Given the description of an element on the screen output the (x, y) to click on. 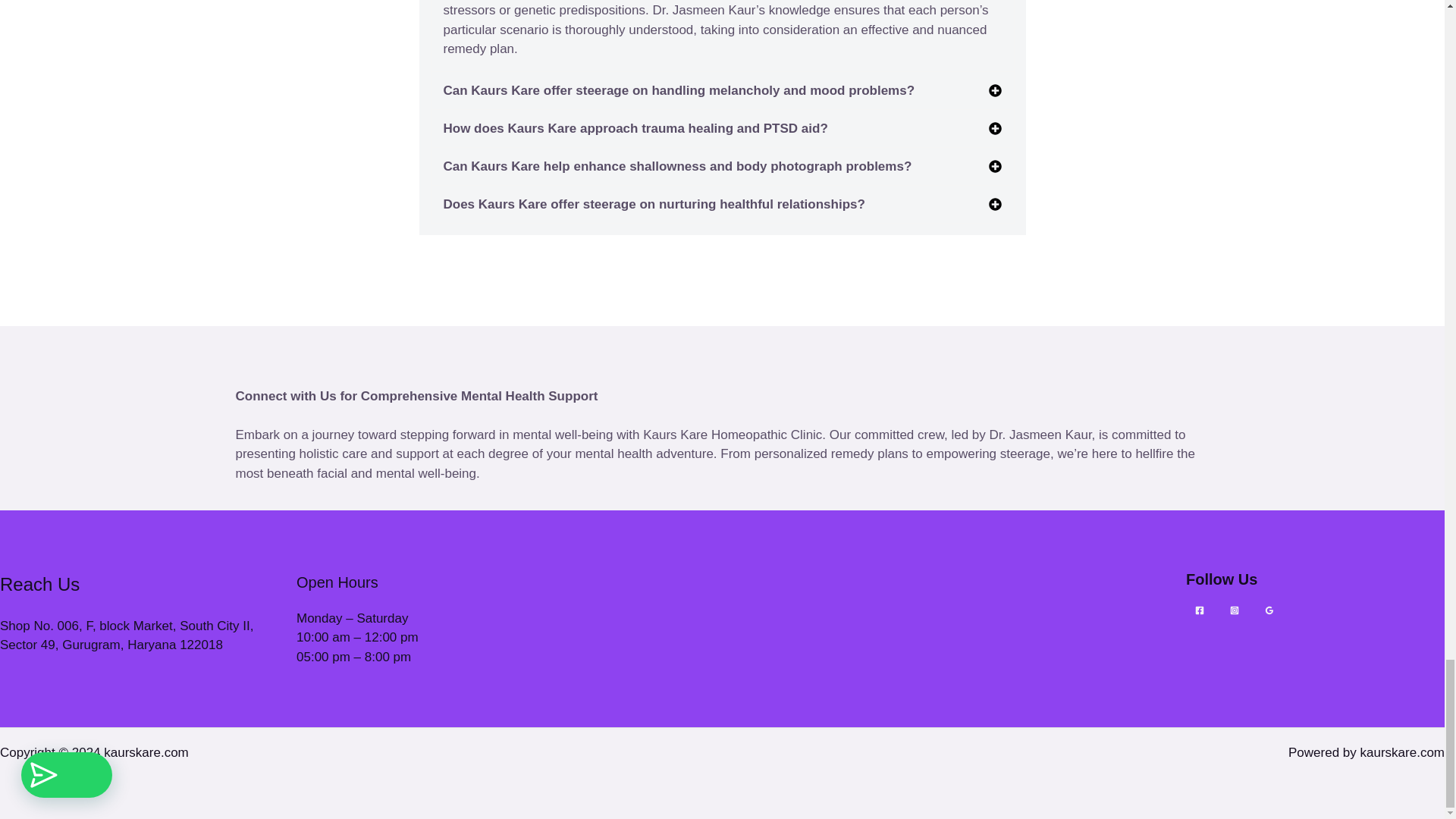
How does Kaurs Kare approach trauma healing and PTSD aid? (634, 128)
